Given the description of an element on the screen output the (x, y) to click on. 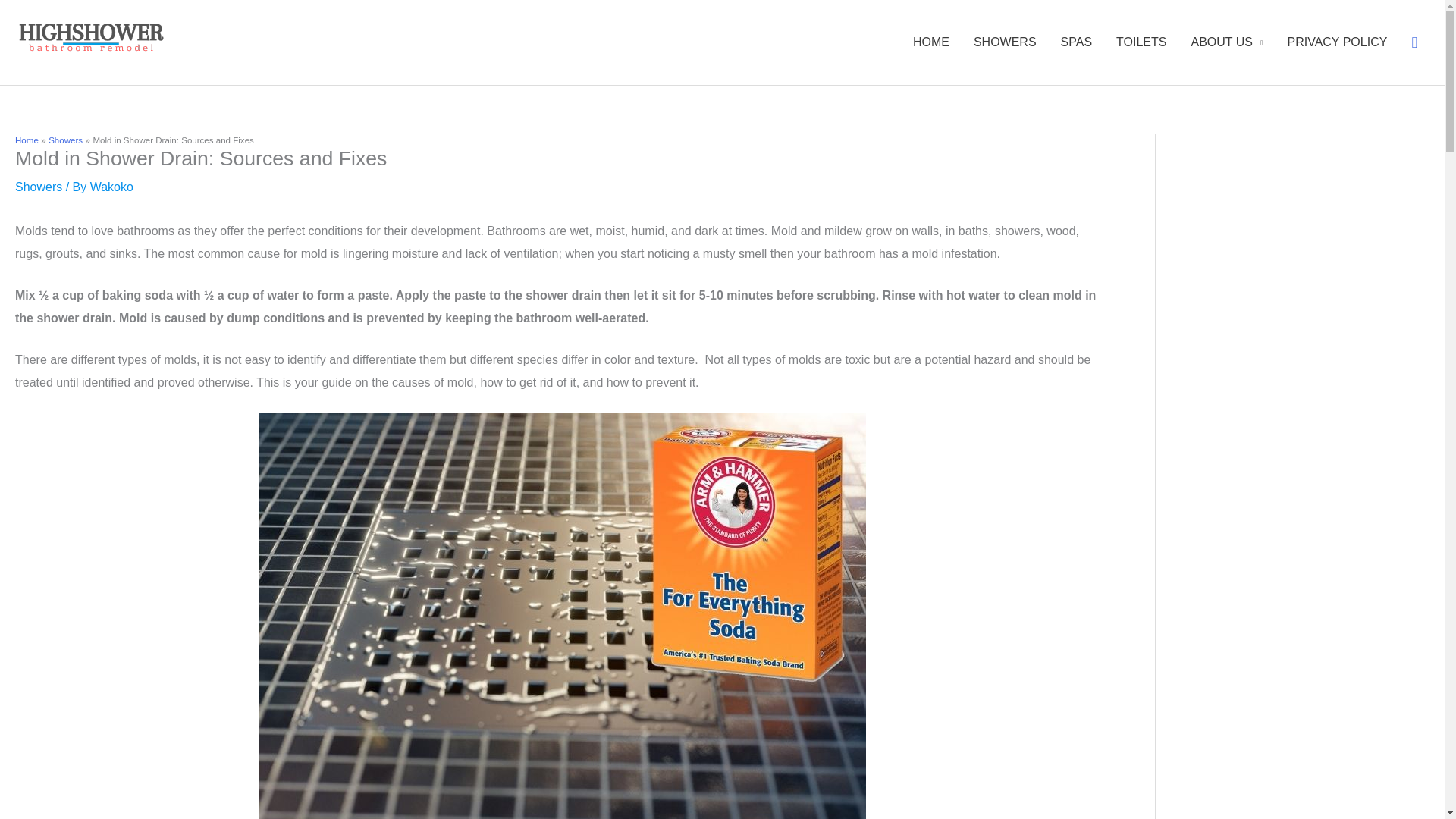
ABOUT US (1226, 42)
Wakoko (111, 186)
Showers (65, 139)
SHOWERS (1004, 42)
PRIVACY POLICY (1337, 42)
View all posts by Wakoko (111, 186)
Showers (38, 186)
Home (26, 139)
